Given the description of an element on the screen output the (x, y) to click on. 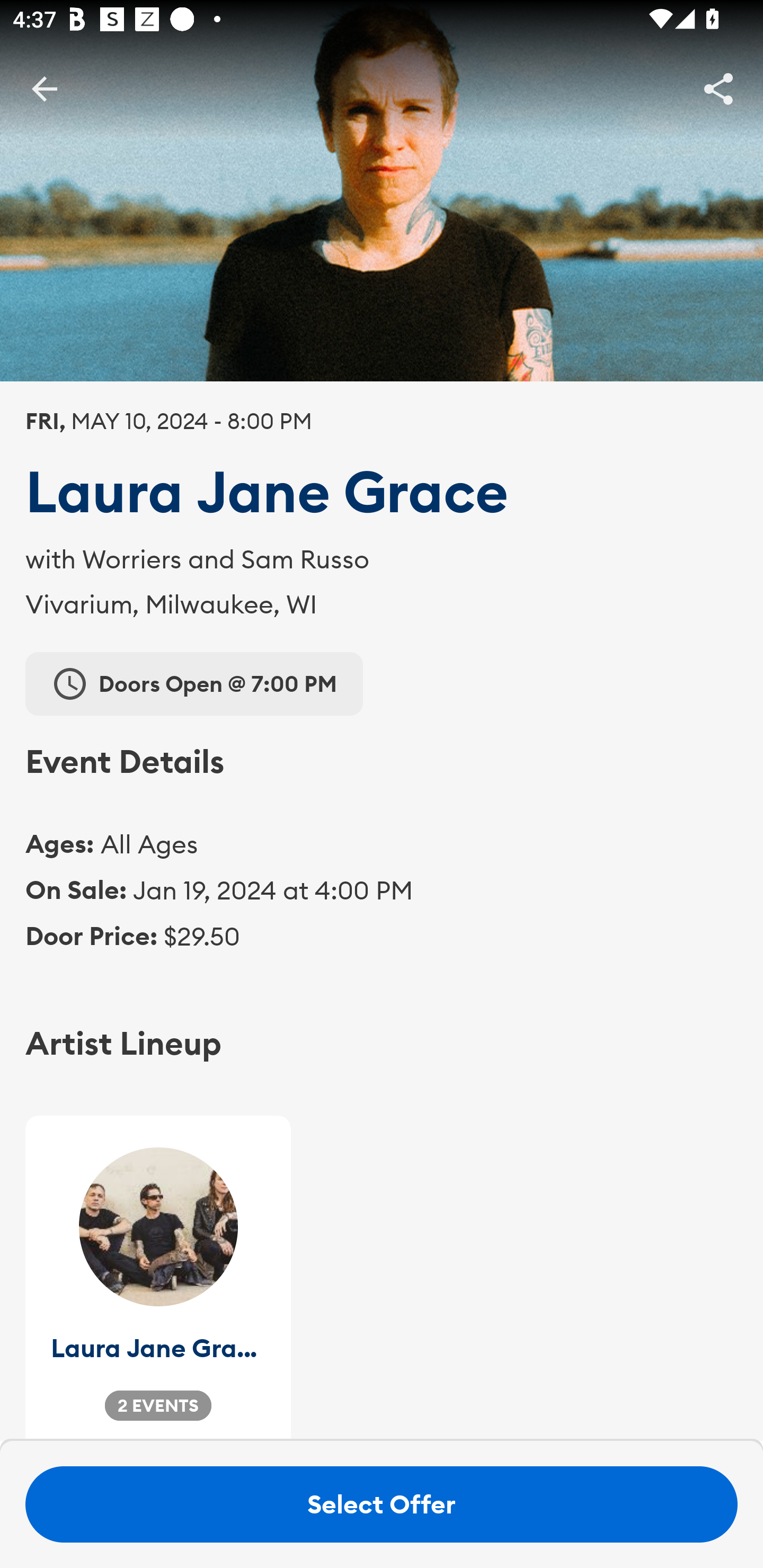
BackButton (44, 88)
Share (718, 88)
Laura Jane Grace 2 EVENTS (157, 1277)
Select Offer (381, 1504)
